Given the description of an element on the screen output the (x, y) to click on. 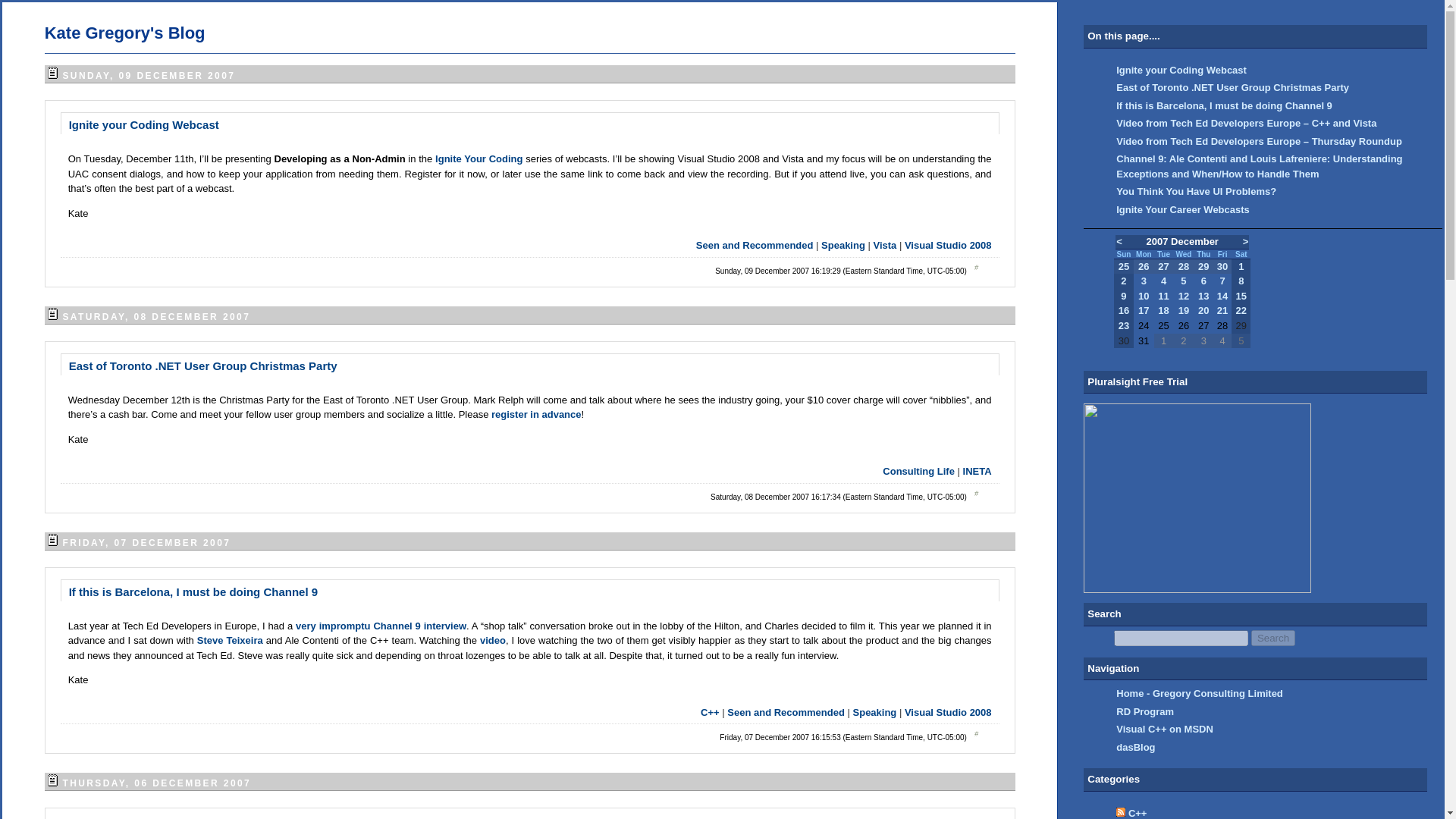
Go to the next month (1246, 241)
Calendar (1181, 290)
INETA (976, 471)
Ignite Your Coding (480, 158)
If this is Barcelona, I must be doing Channel 9 (192, 591)
Go to the previous month (1119, 241)
Consulting Life (918, 471)
Visual Studio 2008 (947, 712)
Visual Studio 2008 (947, 244)
Seen and Recommended (754, 244)
Search (1272, 637)
very impromptu Channel 9 interview (380, 625)
